Given the description of an element on the screen output the (x, y) to click on. 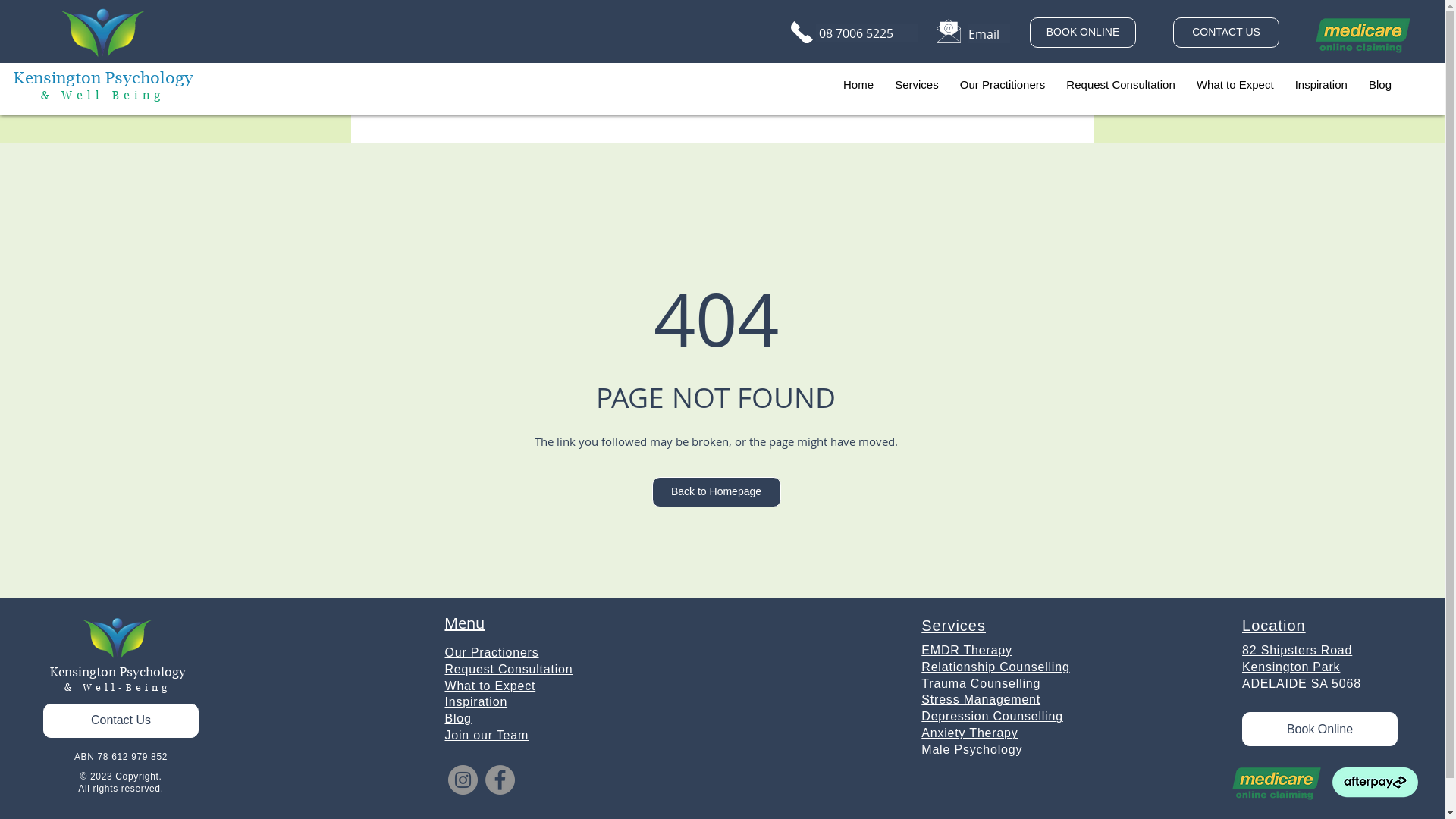
What to Expect Element type: text (489, 685)
Location Element type: text (1273, 625)
& Well-Being Element type: text (102, 97)
CONTACT US Element type: text (1226, 32)
Home Element type: text (858, 84)
Book Online Element type: text (1319, 729)
Relationship Counselling Element type: text (995, 666)
& Well-Being Element type: text (117, 689)
ADELAIDE SA 5068 Element type: text (1301, 682)
What to Expect Element type: text (1235, 84)
Blog Element type: text (1380, 84)
Blog Element type: text (457, 718)
08 7006 5225 Element type: text (866, 32)
Request Consultation Element type: text (508, 668)
Male Psychology Element type: text (971, 749)
Email Element type: text (989, 33)
Stress Management Element type: text (980, 699)
ABN 78 612 979 852 Element type: text (120, 756)
Trauma Counselling Element type: text (980, 683)
82 Shipsters Road Element type: text (1297, 649)
BOOK ONLINE Element type: text (1082, 32)
Anxiety Therapy Element type: text (969, 732)
EMDR Therapy Element type: text (966, 649)
Kensington Psychology Element type: text (103, 80)
Request Consultation Element type: text (1120, 84)
Inspiration Element type: text (1321, 84)
Our Practioners Element type: text (491, 652)
Depression Counselling Element type: text (992, 715)
Join our Team Element type: text (486, 734)
Kensington Psychology Element type: text (117, 674)
Kensington Park Element type: text (1290, 666)
Contact Us Element type: text (120, 720)
